Given the description of an element on the screen output the (x, y) to click on. 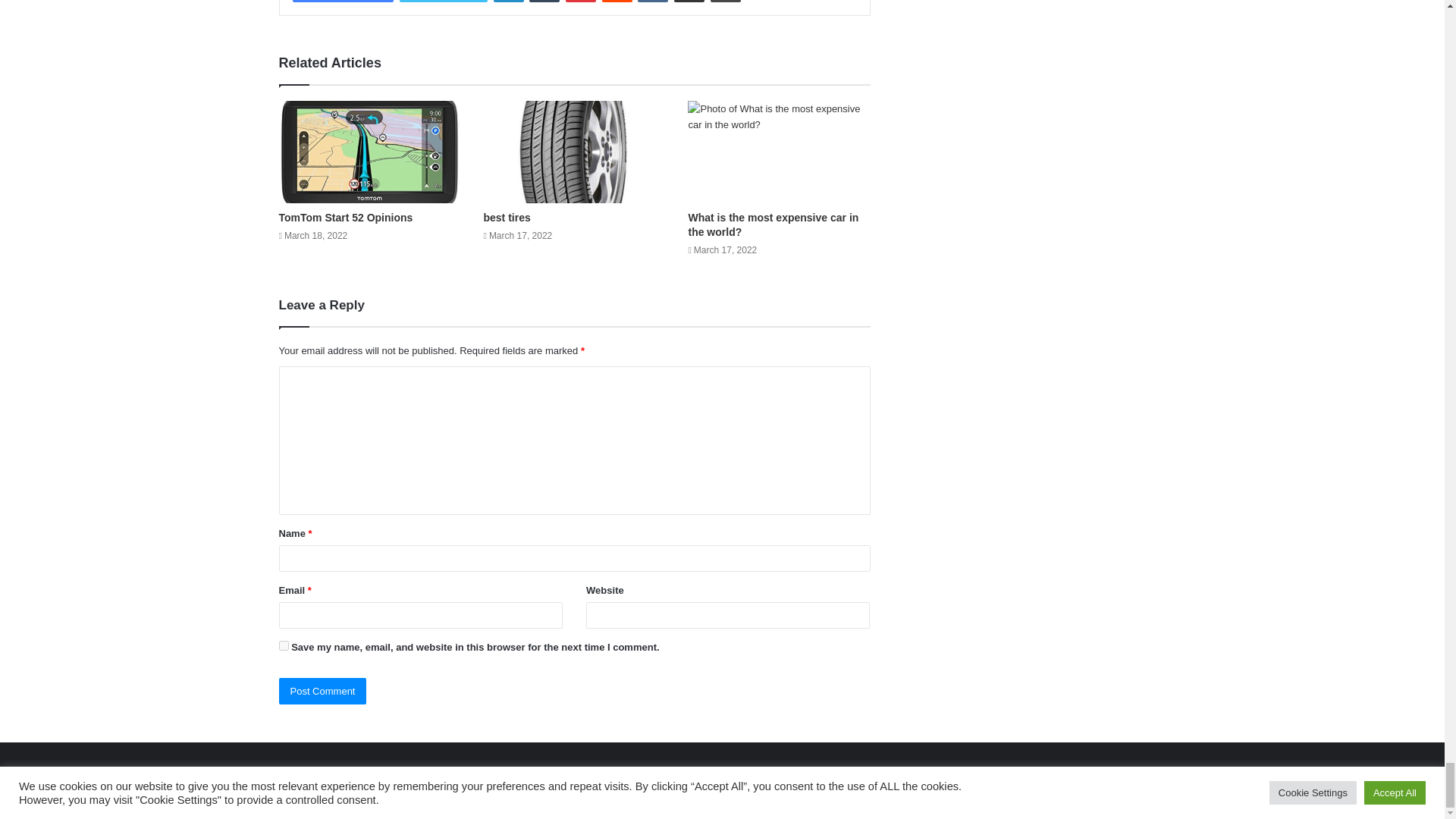
Reddit (616, 1)
VKontakte (652, 1)
Reddit (616, 1)
LinkedIn (508, 1)
Twitter (442, 1)
LinkedIn (508, 1)
Tumblr (544, 1)
VKontakte (652, 1)
Tumblr (544, 1)
Twitter (442, 1)
Facebook (343, 1)
Pinterest (580, 1)
Pinterest (580, 1)
yes (283, 645)
Facebook (343, 1)
